Given the description of an element on the screen output the (x, y) to click on. 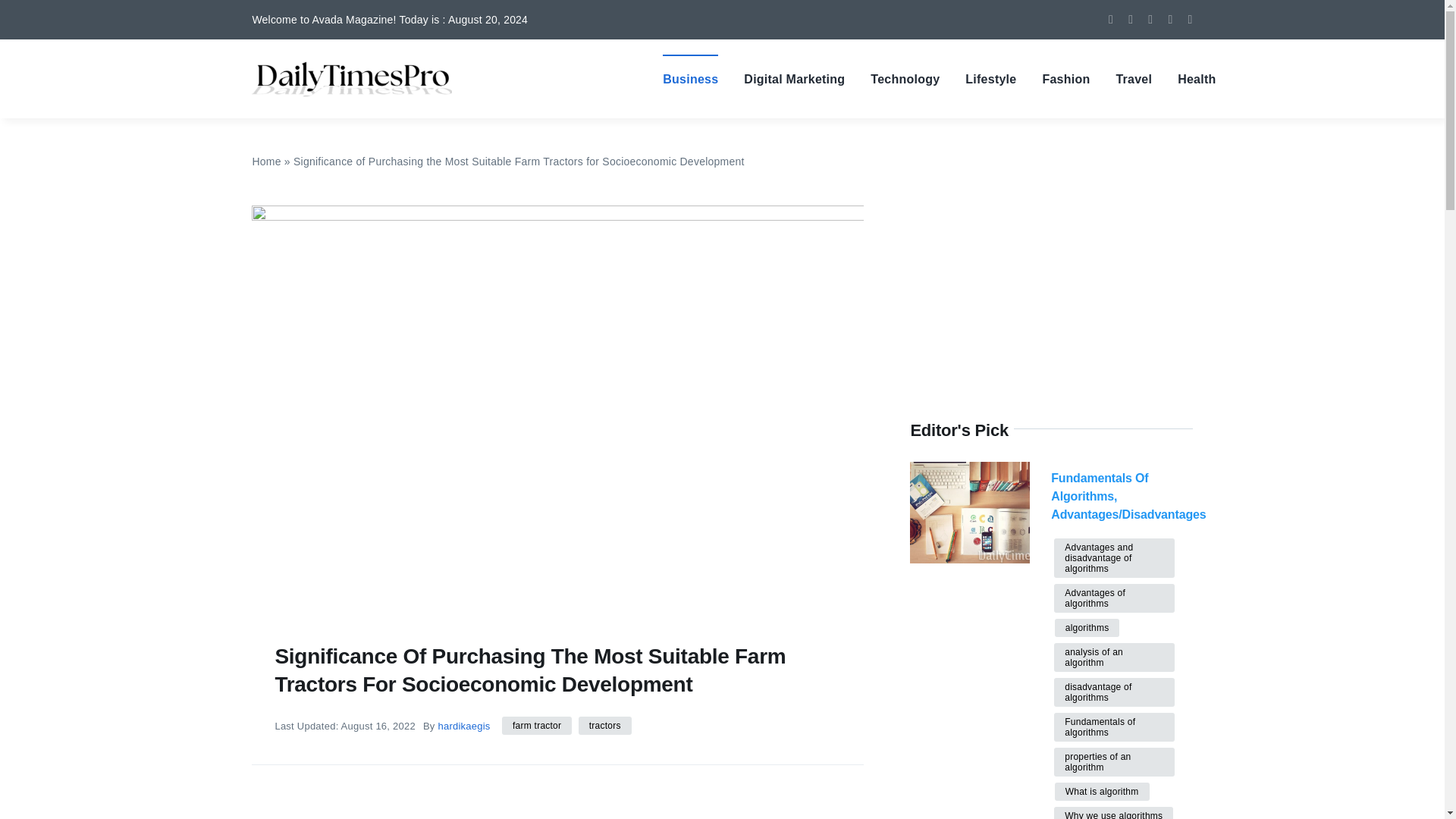
Advantages of algorithms (1114, 597)
properties of an algorithm (1114, 761)
hardikaegis (463, 726)
Advertisement (1051, 311)
Advertisement (527, 784)
Lifestyle (990, 78)
analysis of an algorithm (1114, 656)
What is algorithm (1102, 791)
Technology (904, 78)
Home (266, 161)
